Given the description of an element on the screen output the (x, y) to click on. 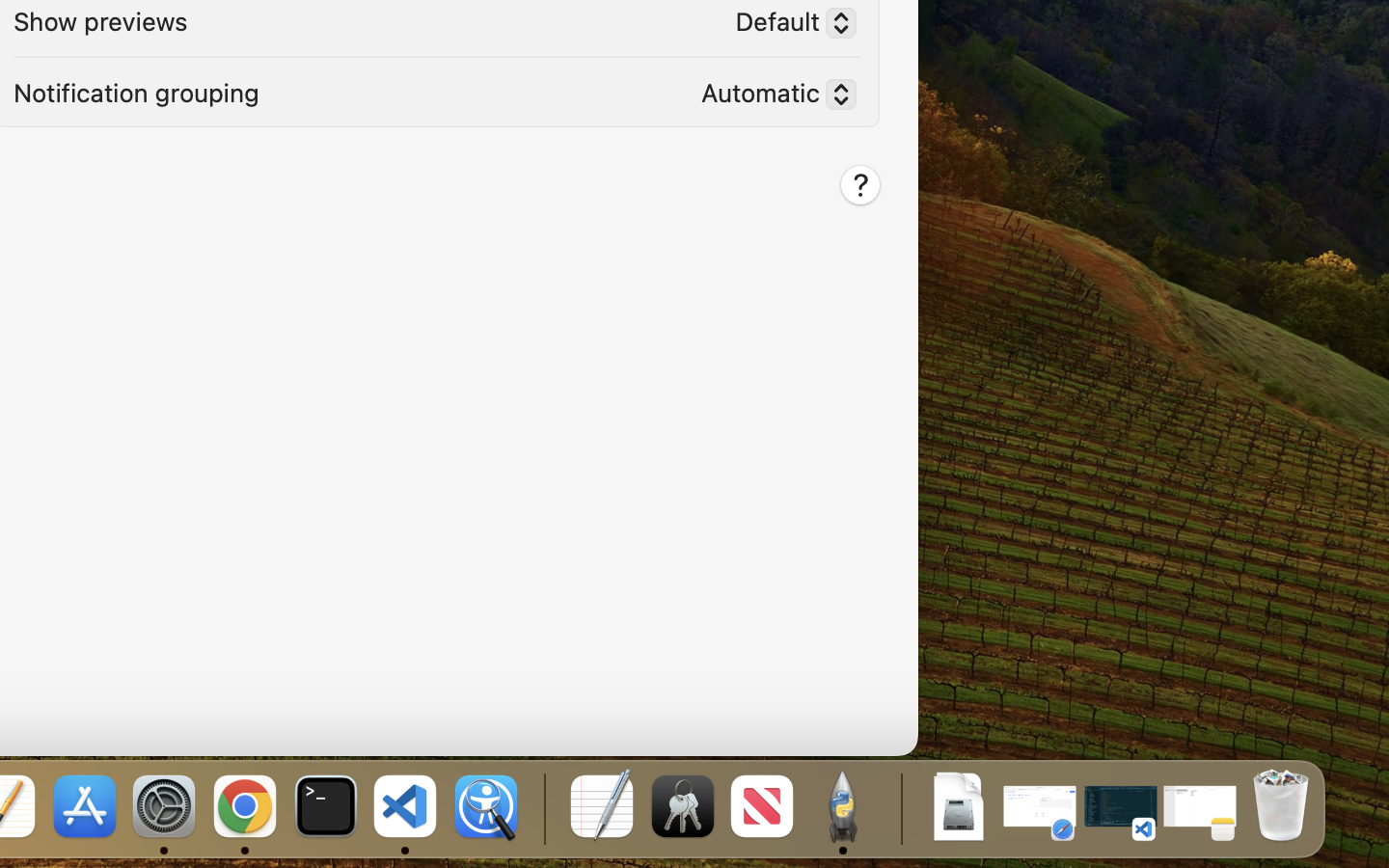
Show previews Element type: AXStaticText (100, 18)
Default Element type: AXPopUpButton (788, 25)
Automatic Element type: AXPopUpButton (770, 97)
0.4285714328289032 Element type: AXDockItem (541, 807)
Notification grouping Element type: AXStaticText (135, 90)
